Given the description of an element on the screen output the (x, y) to click on. 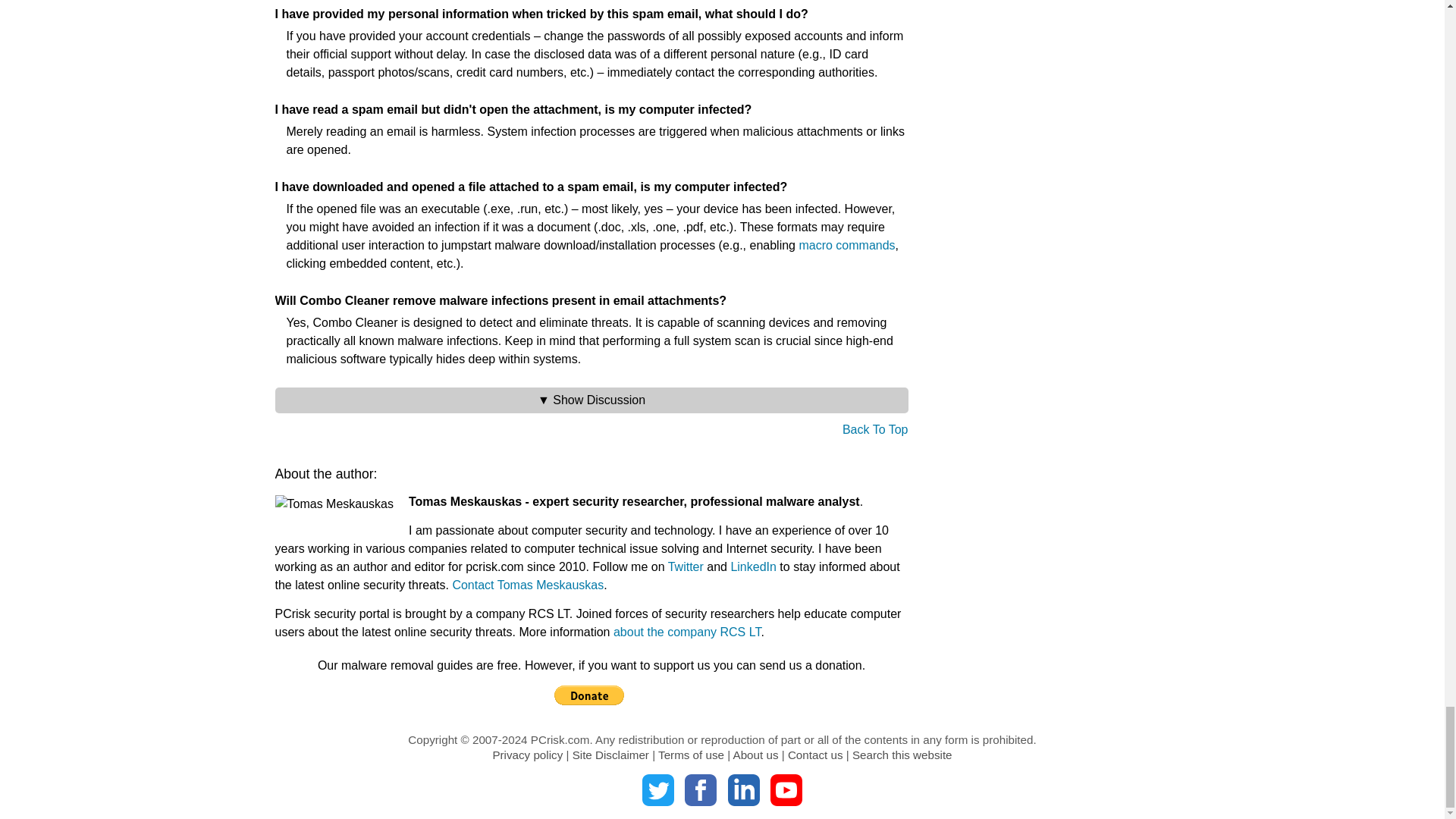
About us (755, 754)
Twitter (658, 789)
PCrisk.com privacy policy (527, 754)
LinkedIn (744, 789)
Youtube (786, 789)
Disclaimer (610, 754)
Search site (901, 754)
Facebook (700, 789)
Facebook (700, 789)
Terms of use (690, 754)
Twitter (658, 789)
Contact us (815, 754)
